Given the description of an element on the screen output the (x, y) to click on. 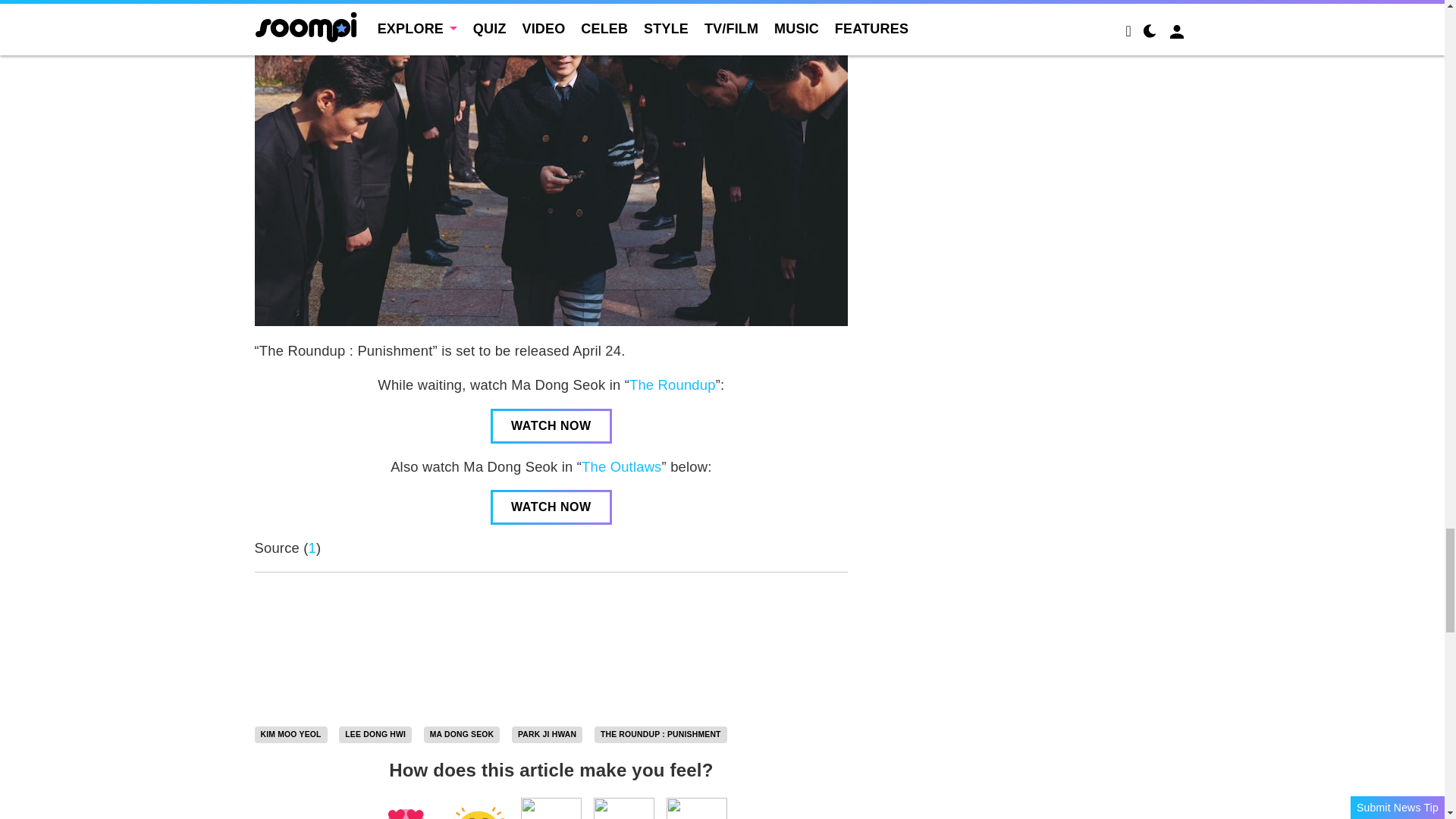
OMG (696, 808)
Heart (405, 808)
Crying (623, 808)
WATCH NOW (550, 425)
The Roundup (672, 384)
WATCH NOW (550, 506)
The Outlaws (620, 466)
Fire (550, 808)
Kim Moo Yeol (290, 734)
The Roundup : Punishment (660, 734)
LOL (478, 808)
Lee Dong Hwi (375, 734)
Park Ji Hwan (547, 734)
KIM MOO YEOL (290, 734)
Ma Dong Seok (461, 734)
